Given the description of an element on the screen output the (x, y) to click on. 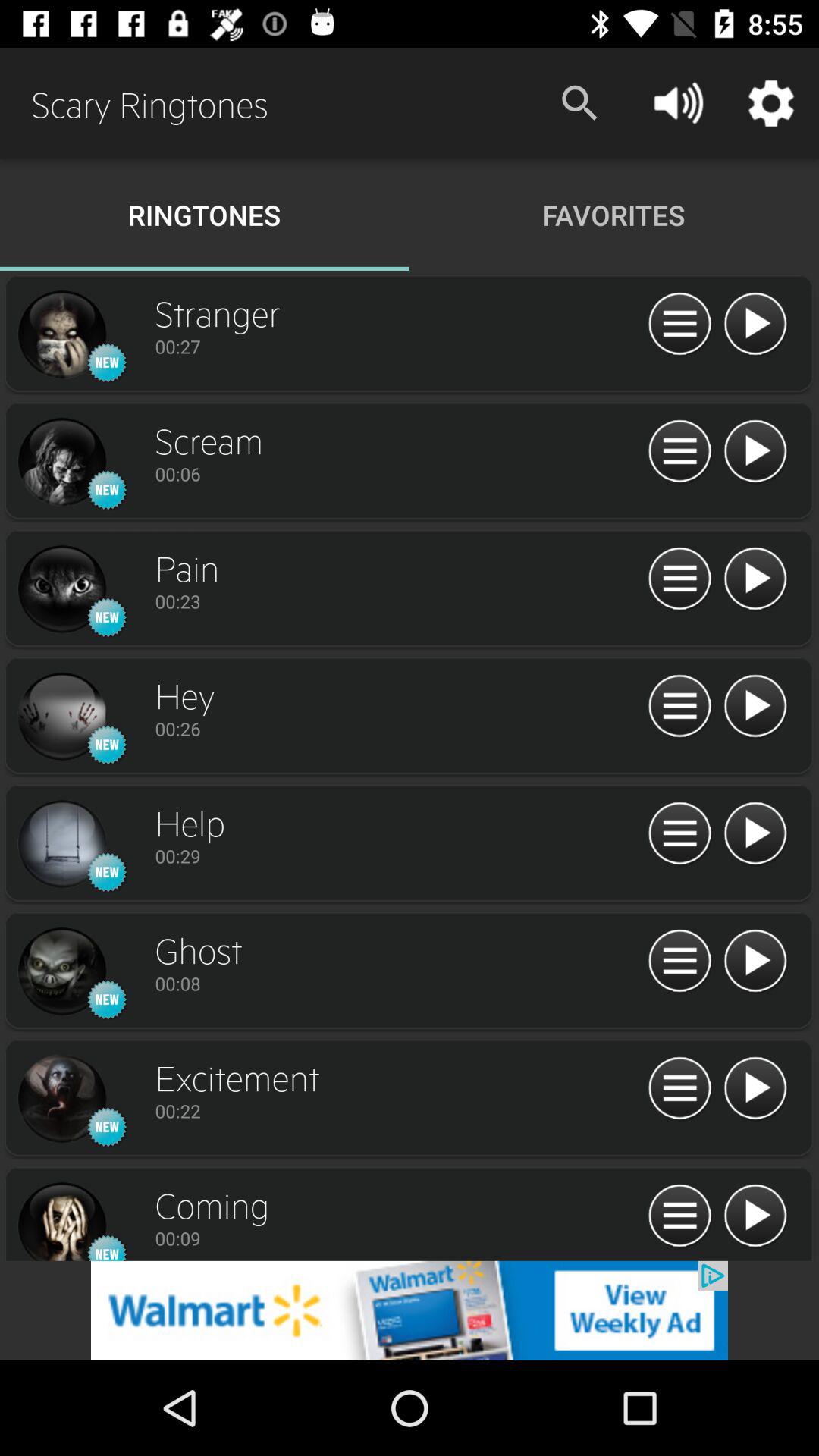
play audio (755, 834)
